Given the description of an element on the screen output the (x, y) to click on. 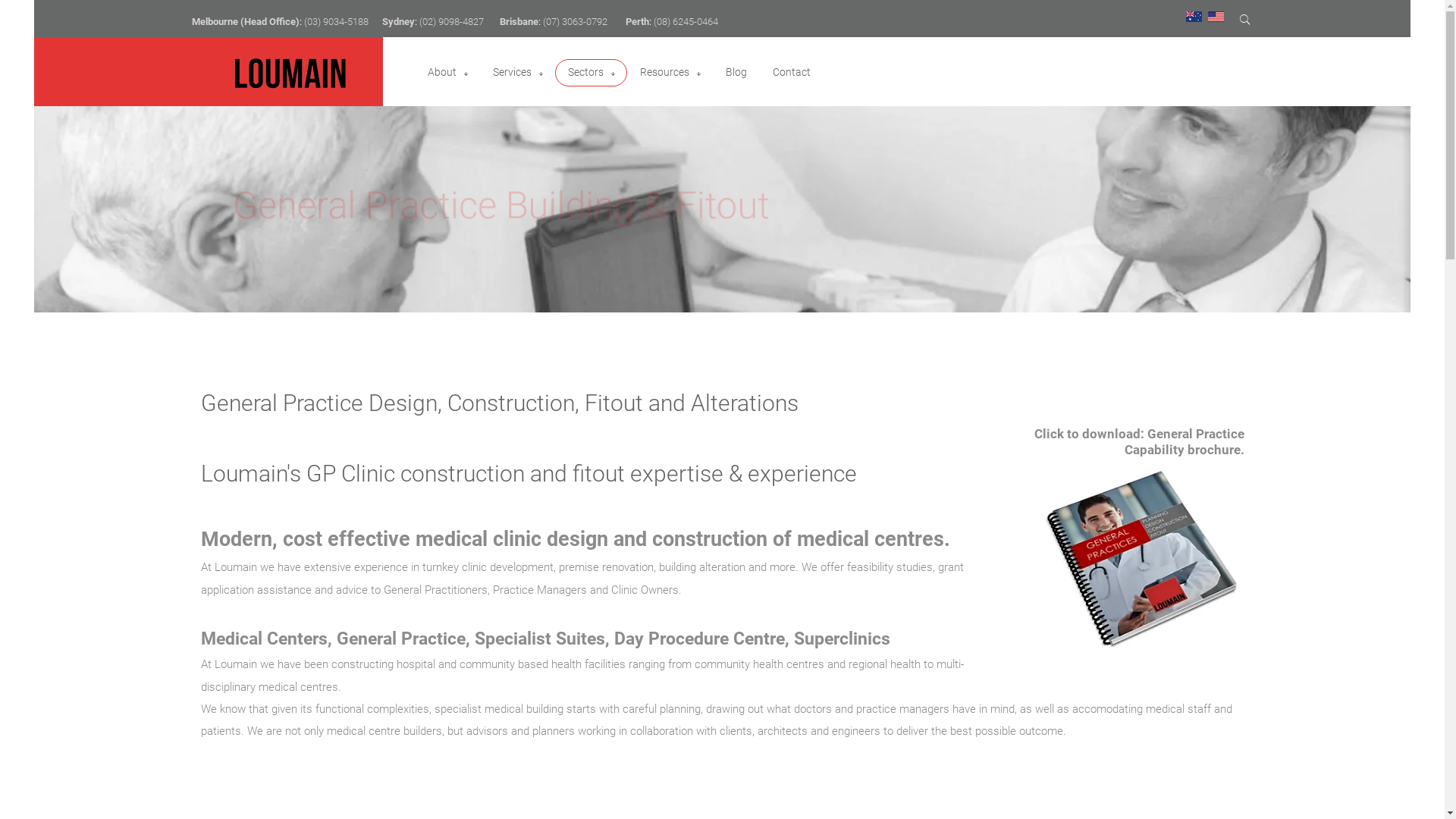
(07) 3063-0792 Element type: text (574, 21)
Us Element type: hover (1215, 15)
Capability brochure. Element type: text (1183, 449)
Click to download: General Practice Element type: text (1139, 433)
GP Clinic construction Element type: text (415, 473)
0 Element type: text (1193, 16)
Resources Element type: text (664, 71)
Services Element type: text (517, 72)
(02) 9098-4827 Element type: text (450, 21)
About Element type: text (447, 72)
Resources Element type: text (669, 72)
Au Element type: hover (1193, 16)
Au Element type: hover (1193, 15)
Contact Element type: text (790, 71)
About Element type: text (441, 71)
(08) 6245-0464 Element type: text (685, 21)
Sectors Element type: text (584, 71)
medical clinic design Element type: text (511, 539)
Services Element type: text (511, 71)
(03) 9034-5188 Element type: text (335, 21)
Us Element type: hover (1215, 16)
Blog Element type: text (735, 71)
0 Element type: text (1215, 16)
Contact Element type: text (790, 71)
Sectors Element type: text (590, 72)
Blog Element type: text (735, 71)
